Given the description of an element on the screen output the (x, y) to click on. 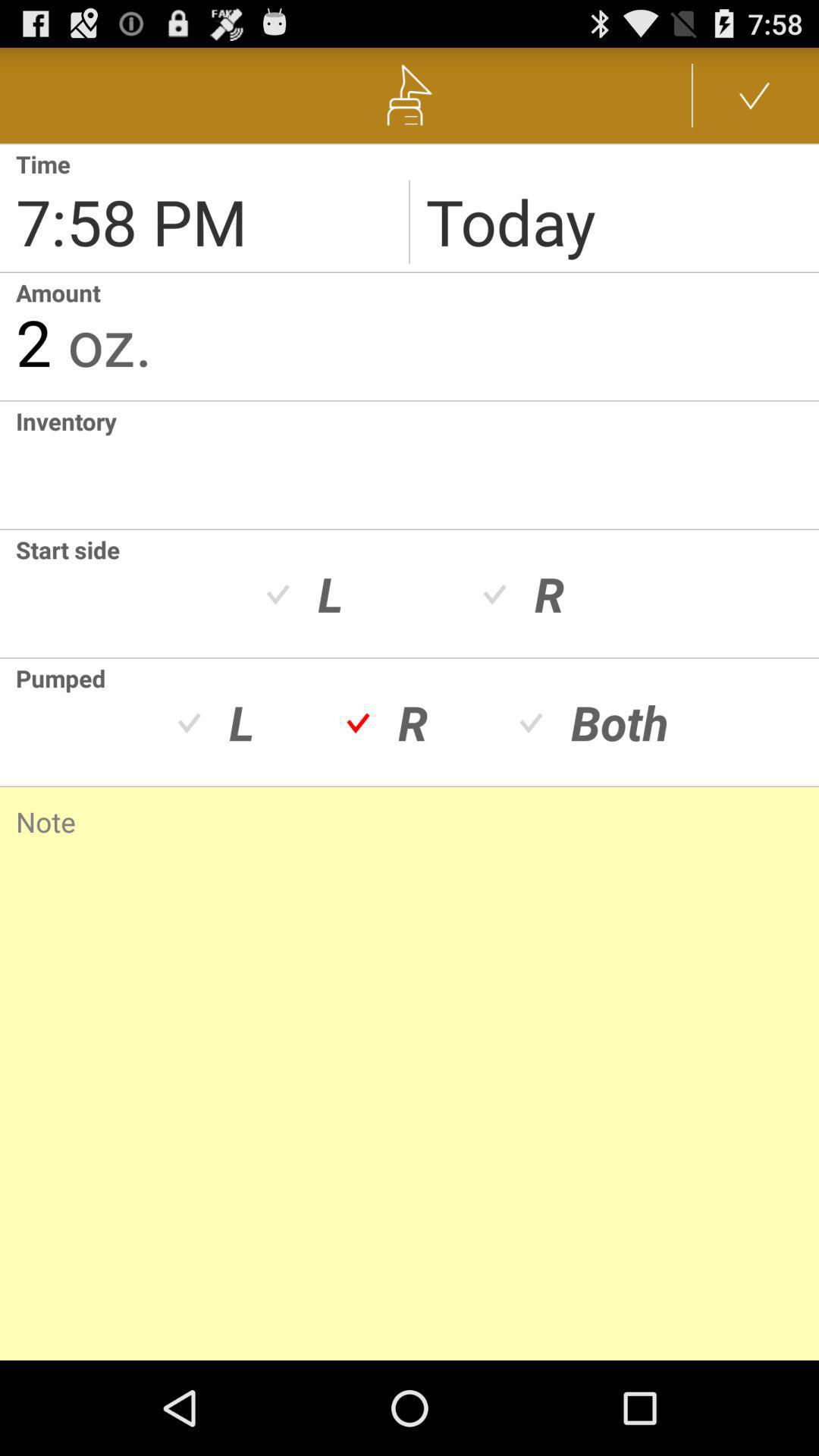
mark as done (755, 95)
